Given the description of an element on the screen output the (x, y) to click on. 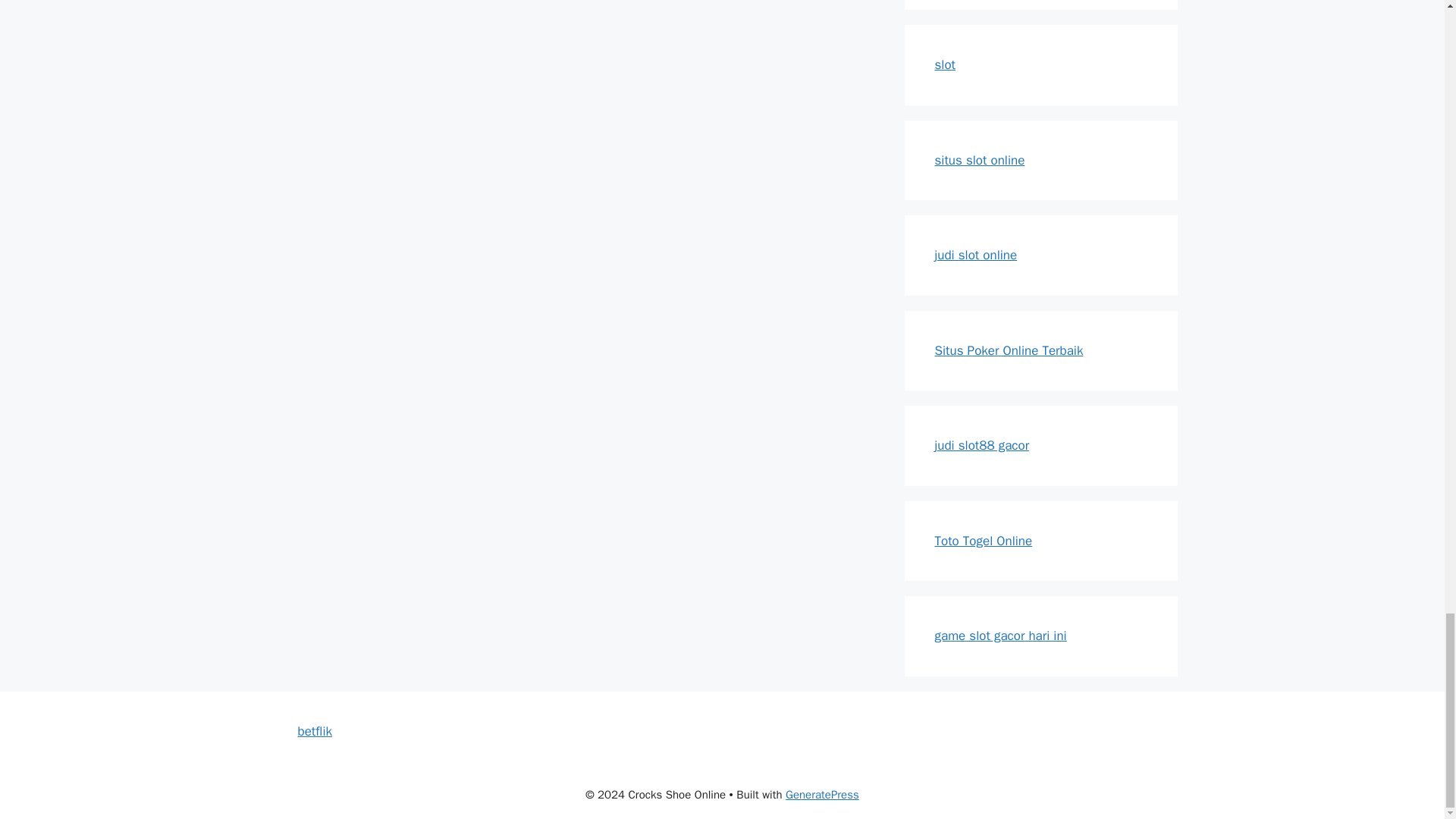
slot (944, 64)
situs slot online (979, 159)
